Given the description of an element on the screen output the (x, y) to click on. 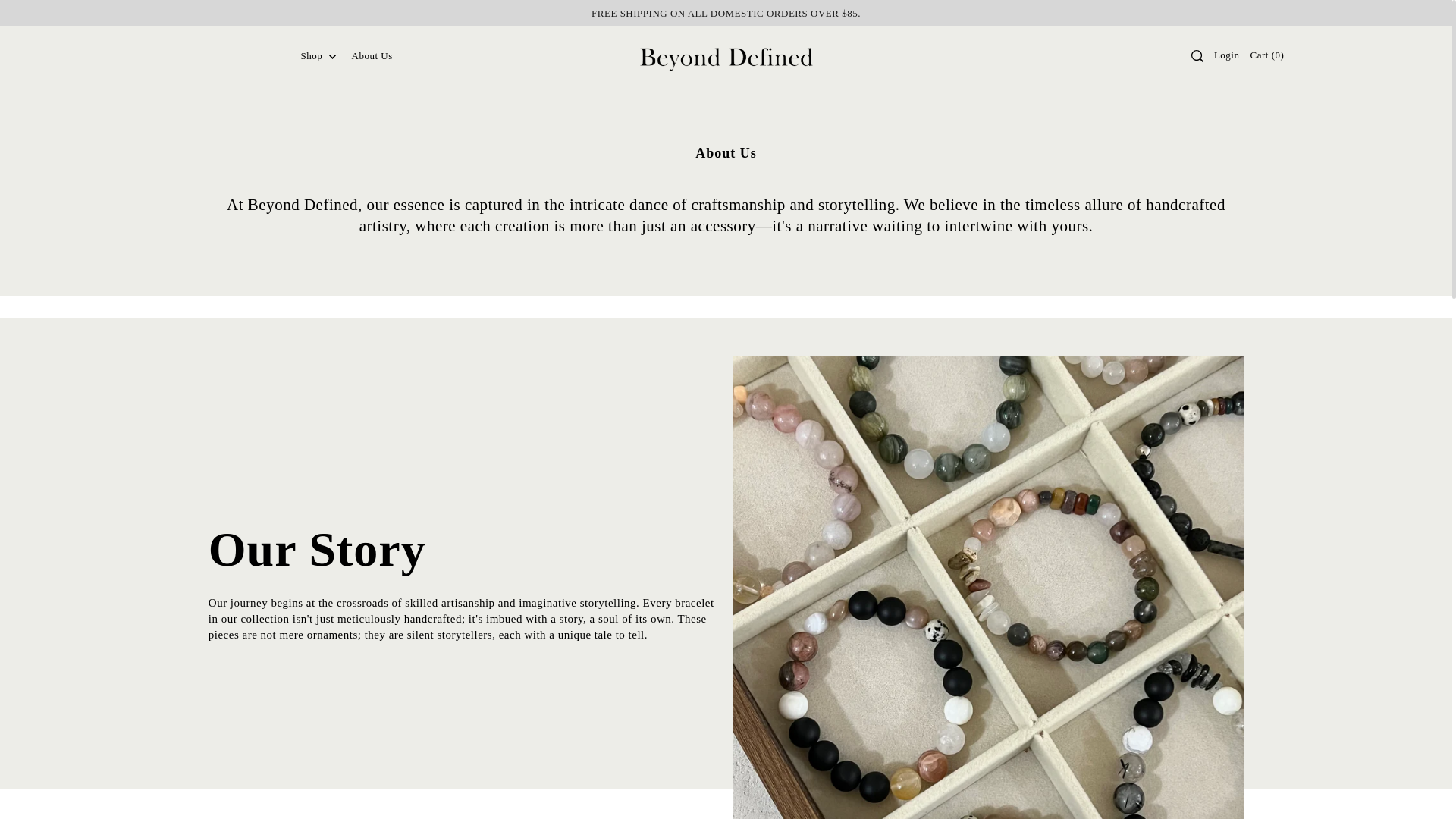
About Us (371, 55)
Login (1226, 55)
Shop (318, 55)
